Given the description of an element on the screen output the (x, y) to click on. 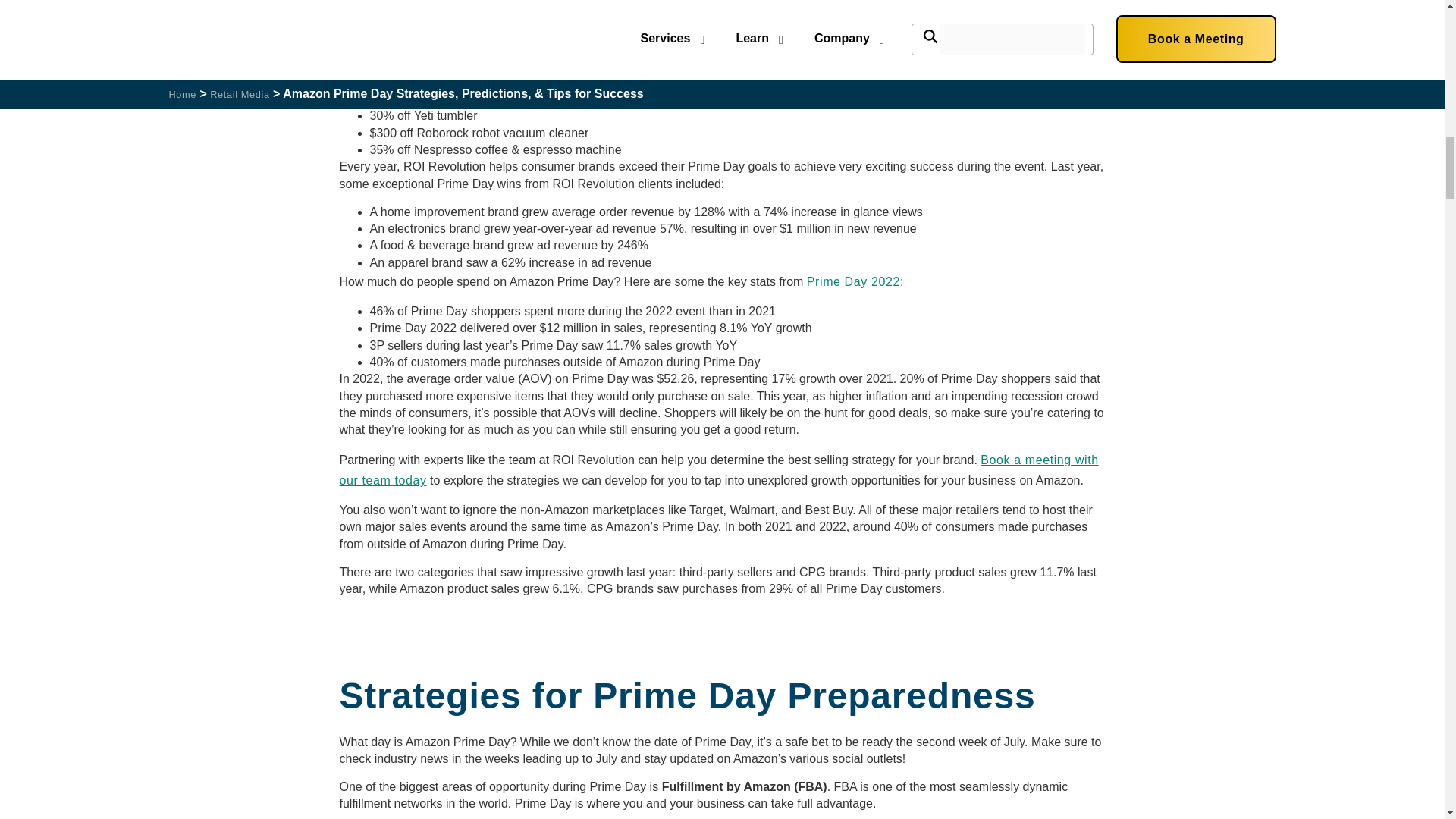
Book a meeting with our team today (719, 469)
Some of the Lightning Deals (421, 51)
Prime Day 2022 (852, 281)
